Given the description of an element on the screen output the (x, y) to click on. 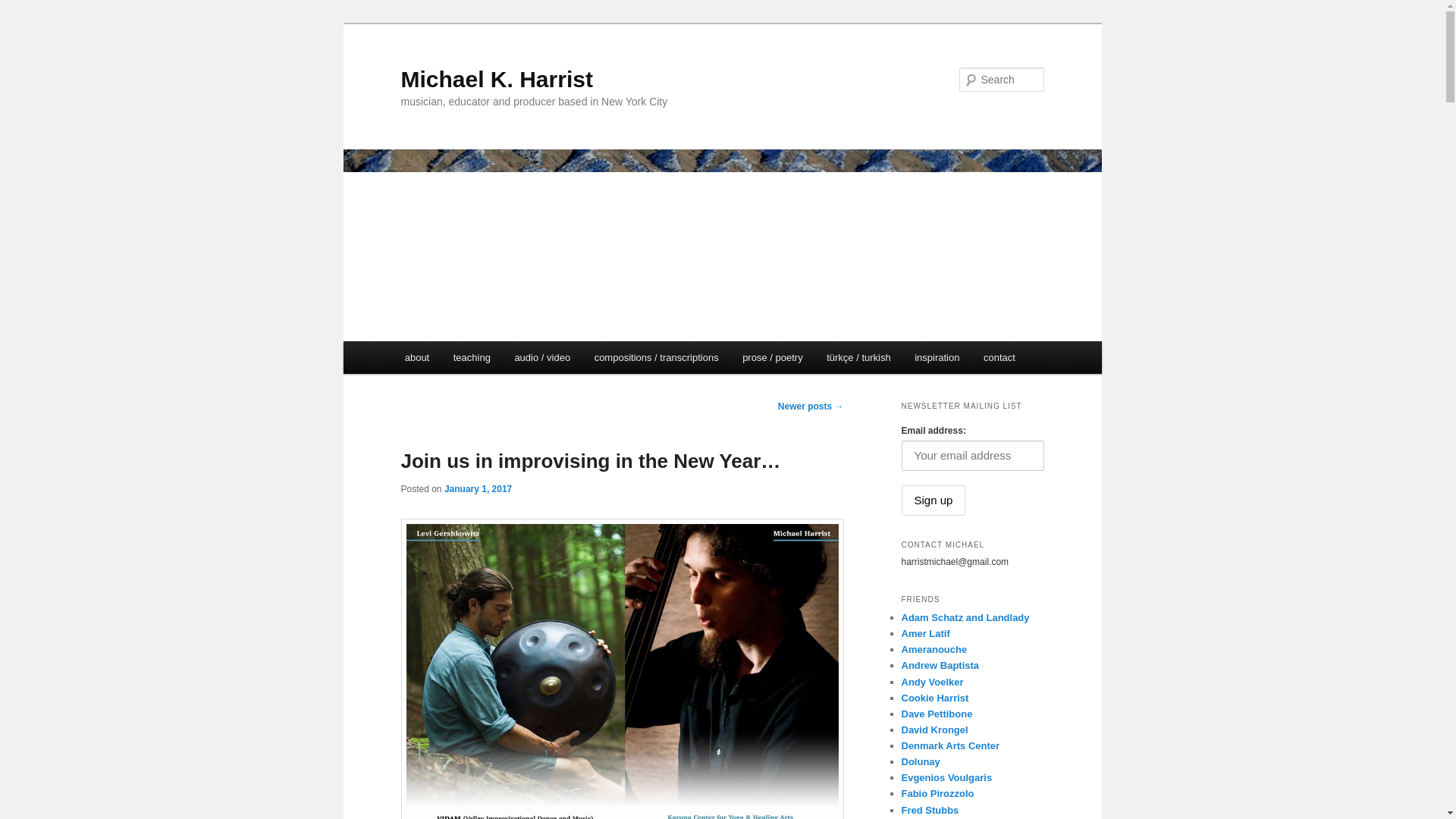
Sign up (933, 500)
Search (24, 8)
about (417, 357)
January 1, 2017 (478, 489)
inspiration (936, 357)
teaching (471, 357)
4:52 PM (478, 489)
contact (998, 357)
Michael K. Harrist (496, 78)
